Given the description of an element on the screen output the (x, y) to click on. 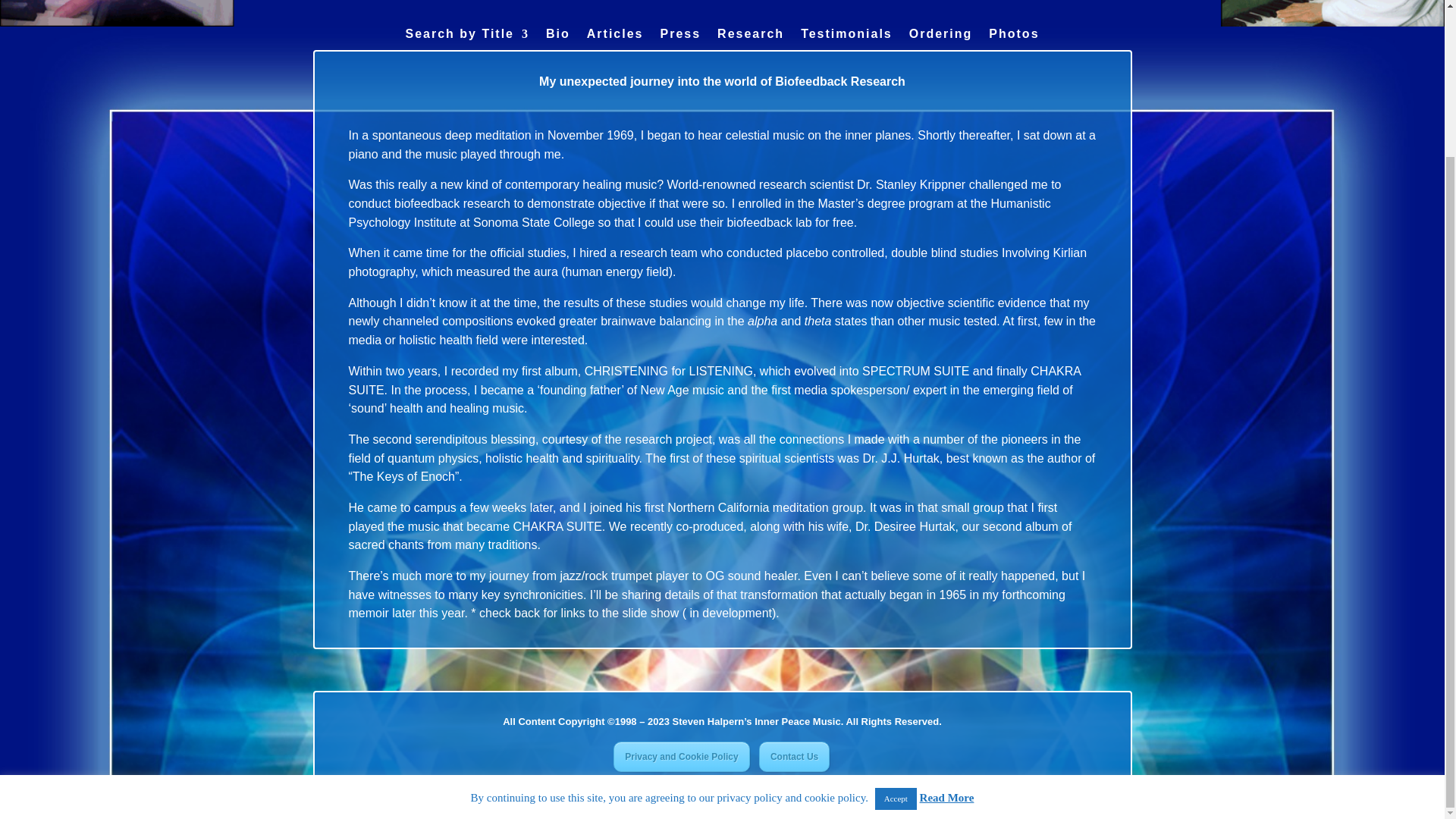
Accept (896, 615)
Ordering (940, 44)
Read More (947, 613)
Bio (558, 44)
Contact Us (793, 757)
Photos (1013, 44)
Articles (614, 44)
Research (750, 44)
Press (679, 44)
Privacy and Cookie Policy (680, 757)
Search by Title (466, 44)
Testimonials (846, 44)
